Given the description of an element on the screen output the (x, y) to click on. 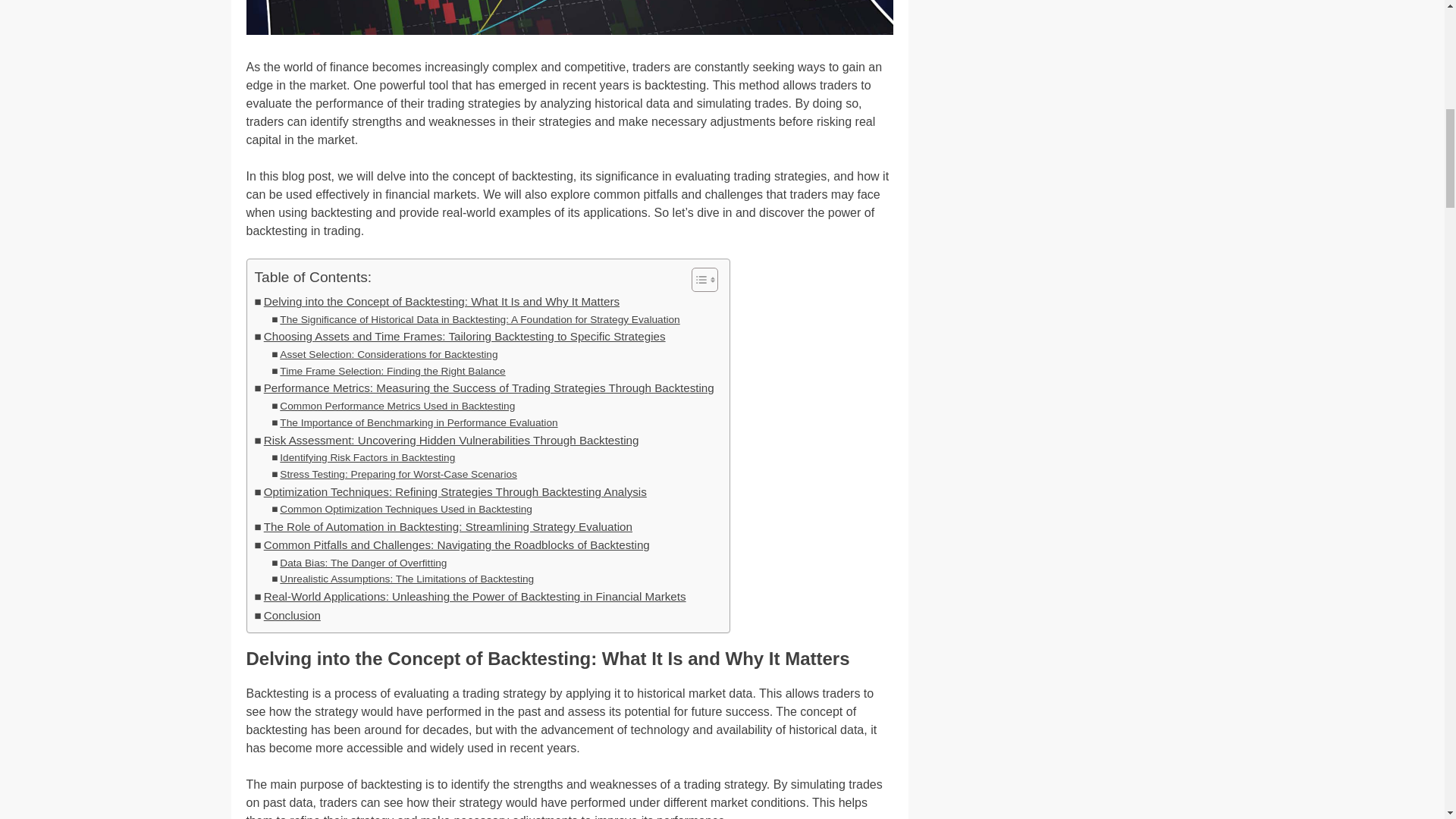
Common Performance Metrics Used in Backtesting (392, 406)
The Importance of Benchmarking in Performance Evaluation (413, 422)
Stress Testing: Preparing for Worst-Case Scenarios (393, 474)
Identifying Risk Factors in Backtesting (362, 457)
Asset Selection: Considerations for Backtesting (383, 354)
Common Optimization Techniques Used in Backtesting (401, 509)
Time Frame Selection: Finding the Right Balance (387, 371)
